Given the description of an element on the screen output the (x, y) to click on. 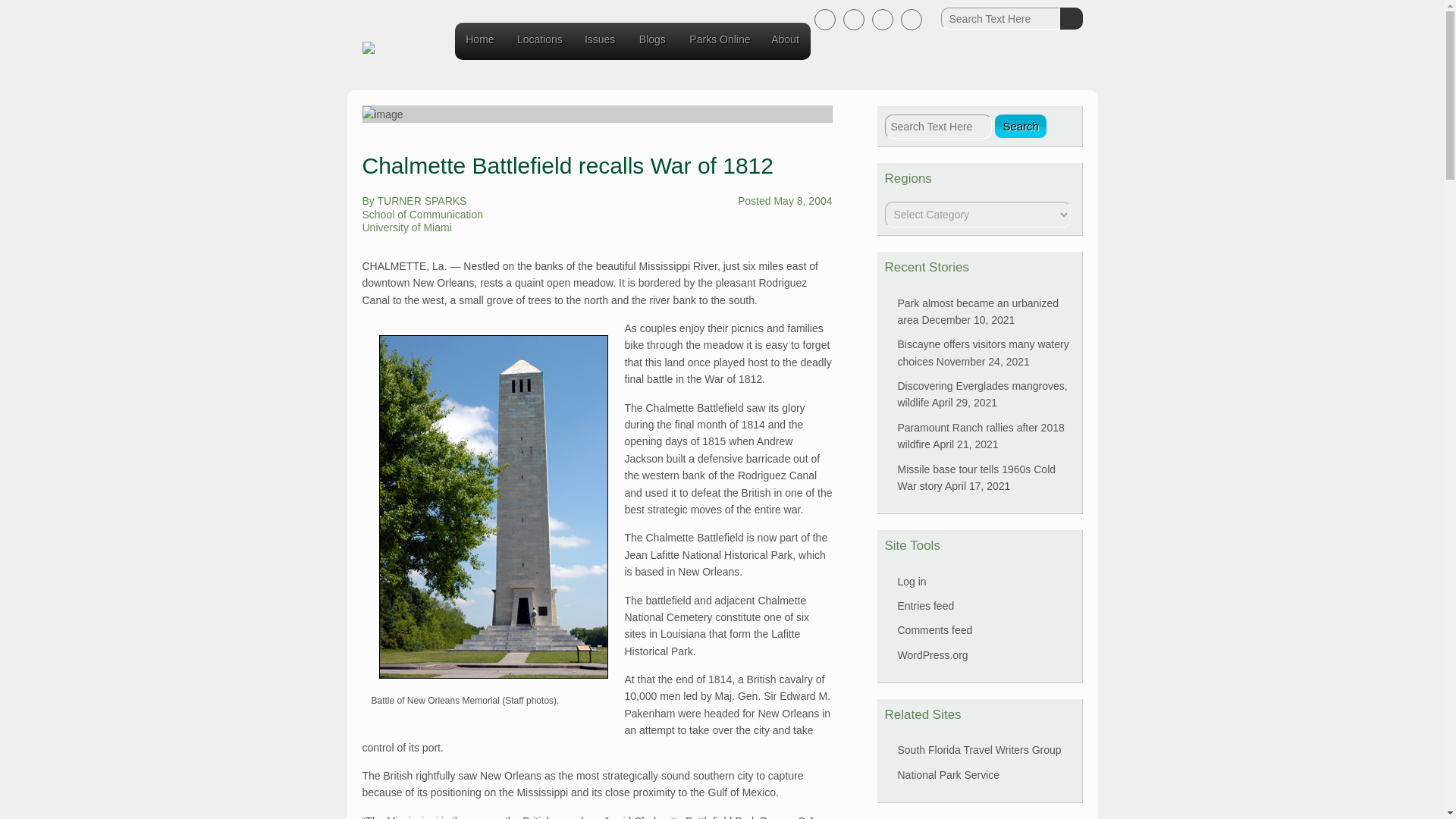
Locations (539, 42)
Home (479, 42)
Search (1020, 125)
Search (1071, 18)
Search (1071, 18)
